Given the description of an element on the screen output the (x, y) to click on. 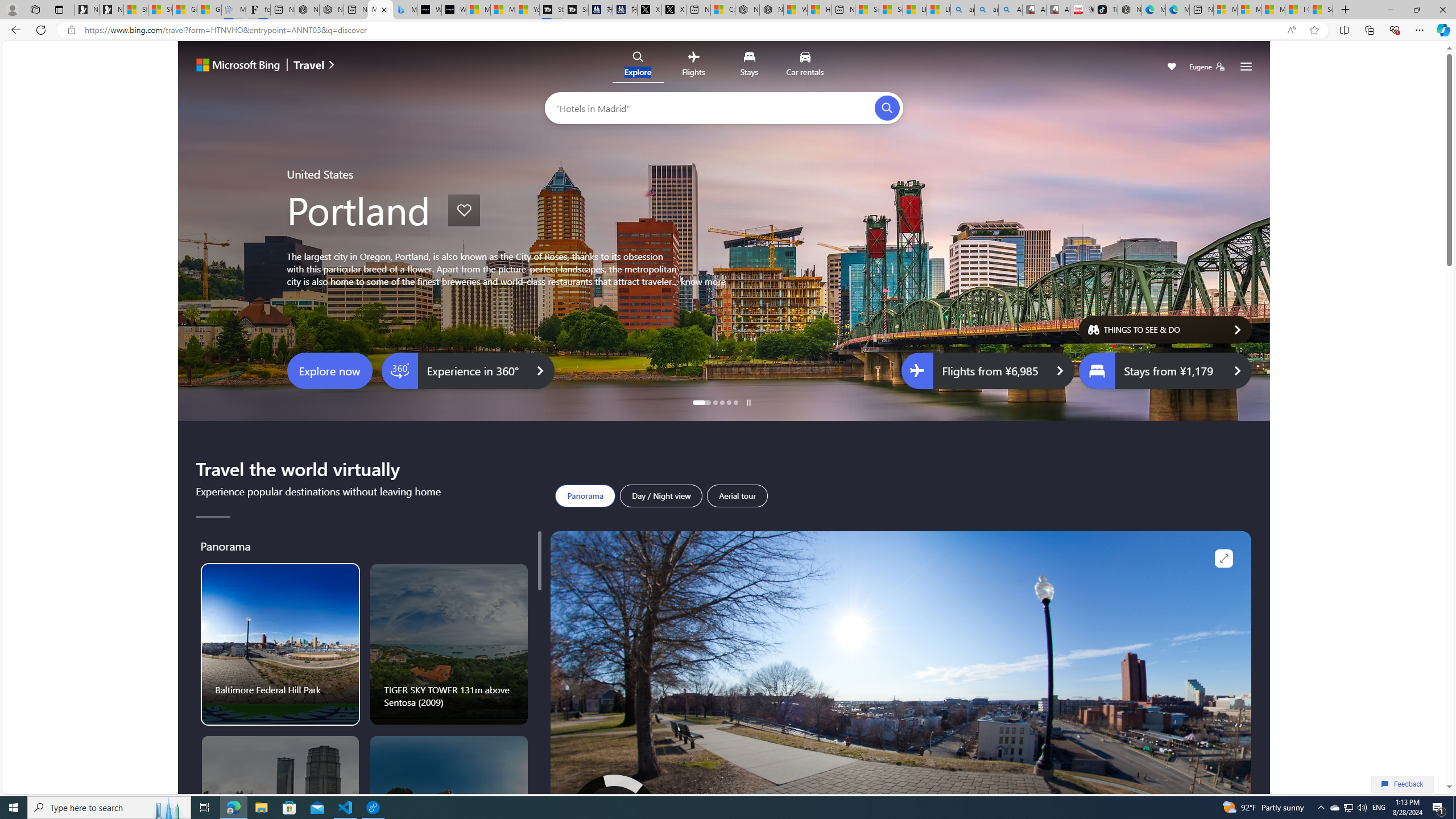
Shanghai, China weather forecast | Microsoft Weather (159, 9)
Gilma and Hector both pose tropical trouble for Hawaii (208, 9)
Back (13, 29)
Search destinations, flights & more (715, 107)
know more (702, 281)
Flights (693, 65)
amazon - Search Images (986, 9)
Split screen (1344, 29)
Microsoft Bing (253, 65)
Restore (1416, 9)
amazon - Search (962, 9)
Streaming Coverage | T3 (551, 9)
